Given the description of an element on the screen output the (x, y) to click on. 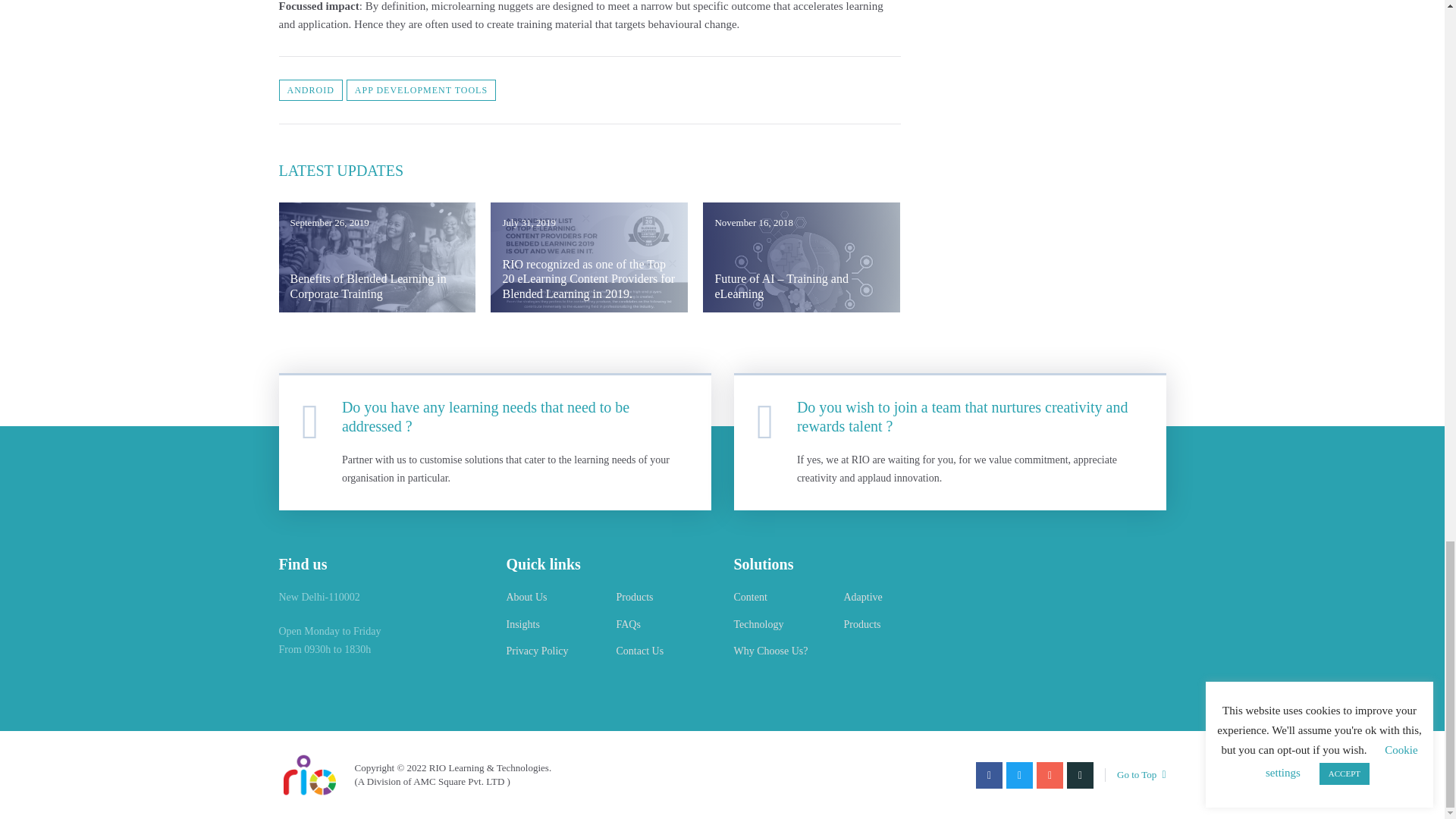
qtq80-SXQ6VH (377, 257)
September 26, 2019 (377, 257)
post 3 (588, 257)
Benefits of Blended Learning in Corporate Training (367, 285)
ANDROID (310, 89)
APP DEVELOPMENT TOOLS (421, 89)
ai3 (801, 257)
November 16, 2018 (801, 257)
July 31, 2019 (588, 257)
